Given the description of an element on the screen output the (x, y) to click on. 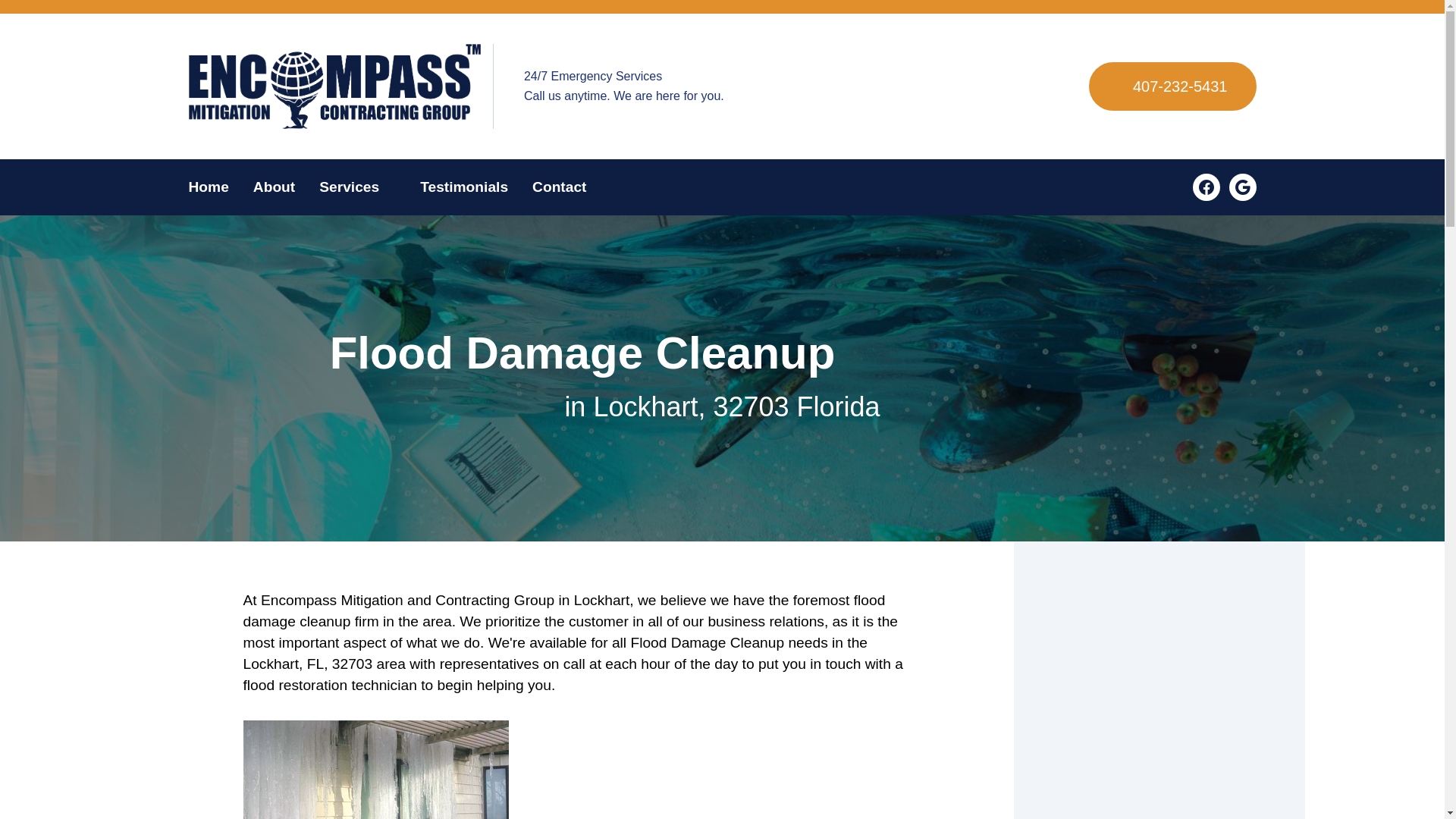
Encompass Mitigation and Contracting Group, LLC. (333, 86)
407-232-5431 (1172, 86)
Testimonials (463, 186)
Home (213, 186)
Contact (552, 186)
About (274, 186)
Facebook (1206, 186)
Google (1241, 186)
Services (357, 186)
